Given the description of an element on the screen output the (x, y) to click on. 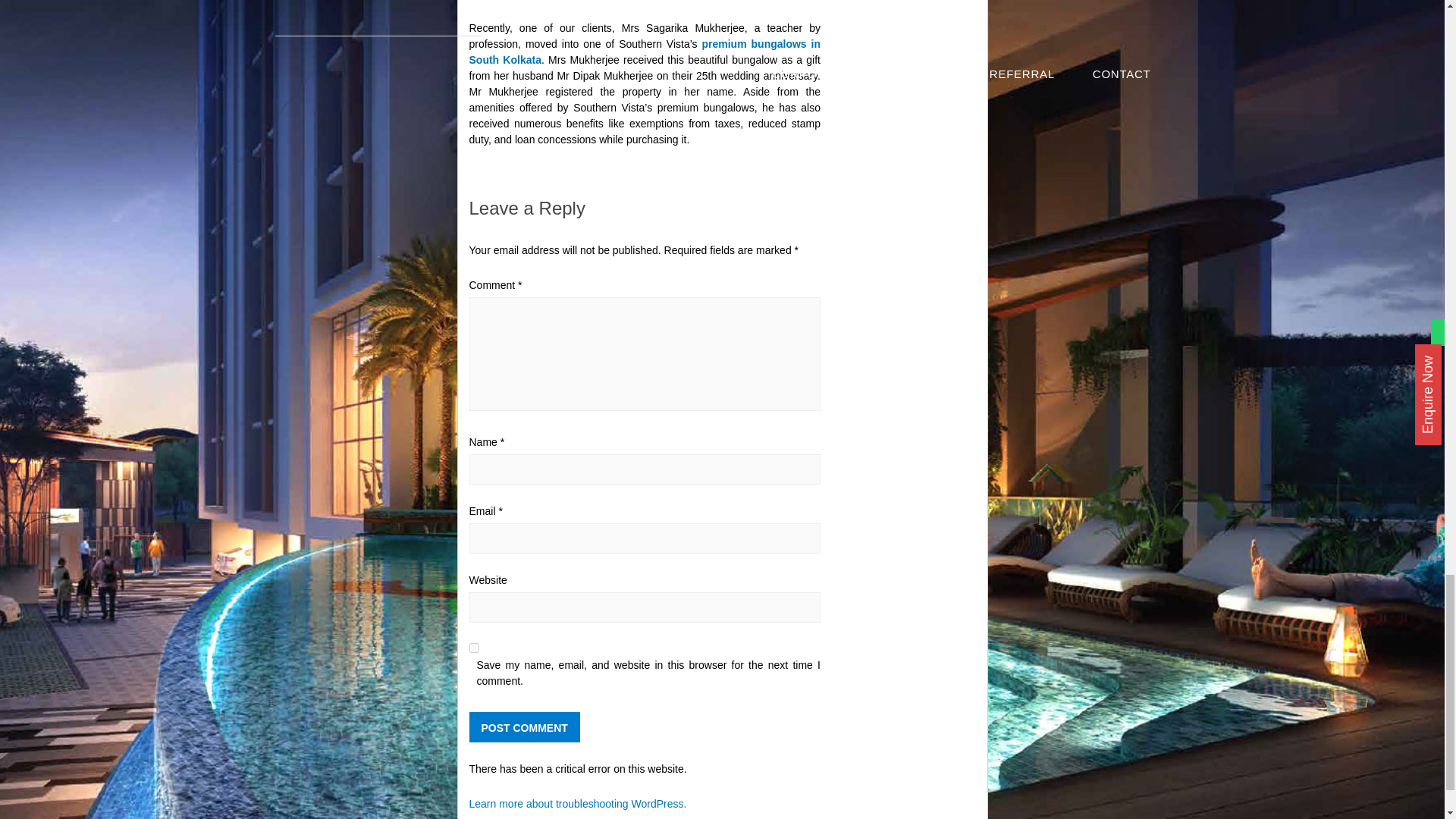
Post Comment (523, 726)
Post Comment (523, 726)
yes (473, 647)
